Given the description of an element on the screen output the (x, y) to click on. 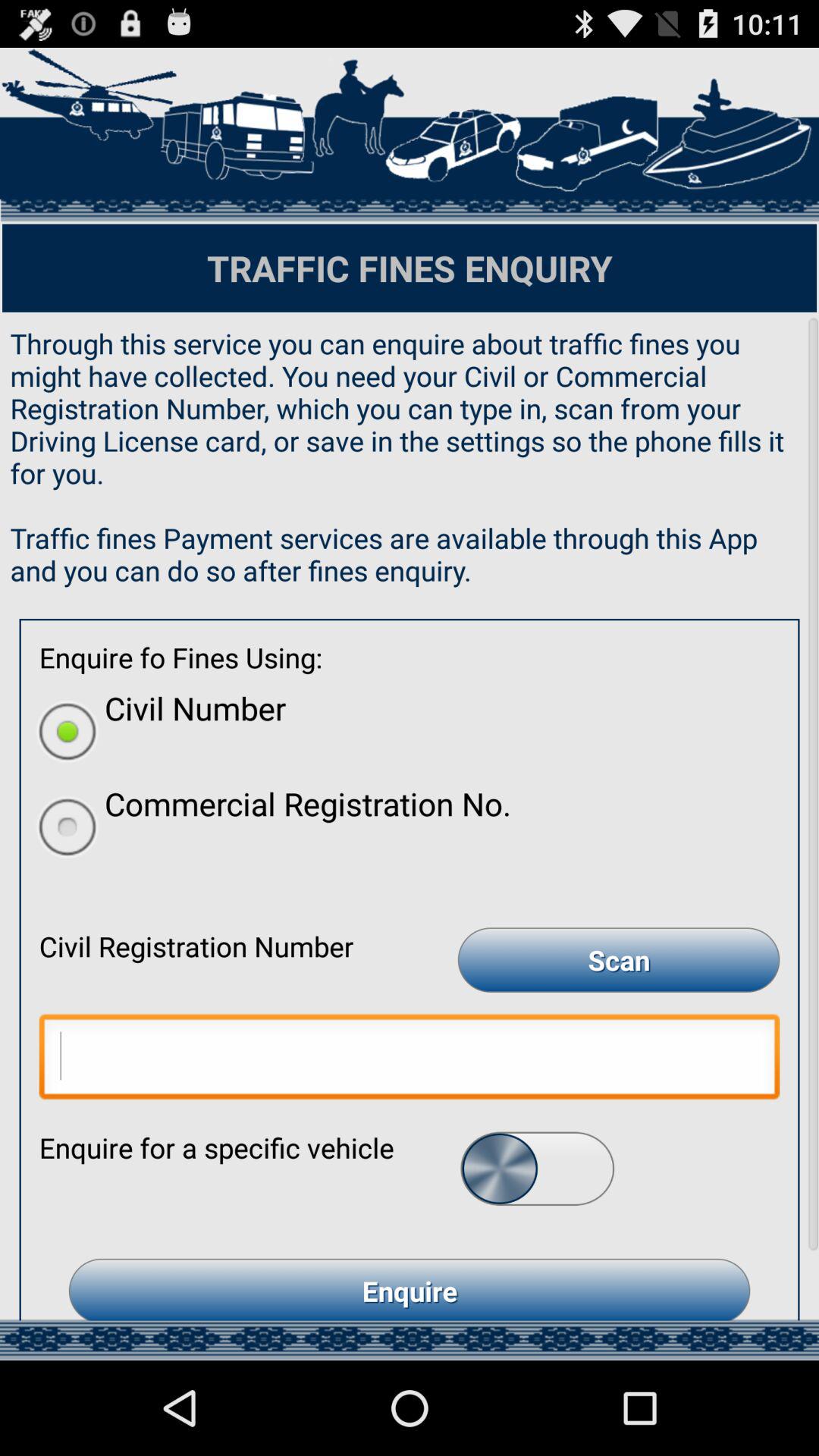
input field (409, 1060)
